Given the description of an element on the screen output the (x, y) to click on. 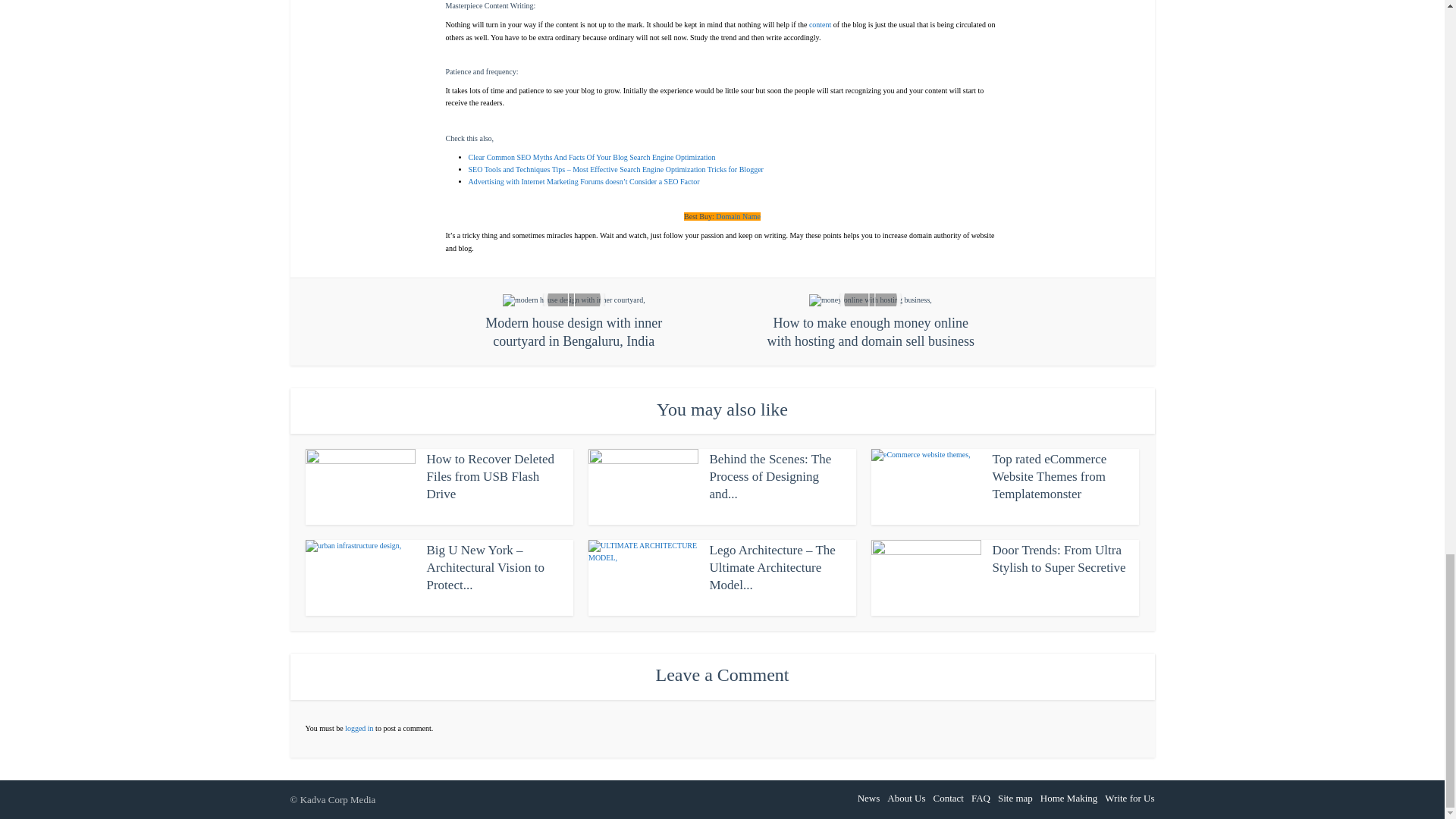
Door Trends: From Ultra Stylish to Super Secretive (1058, 558)
content (820, 24)
How to Recover Deleted Files from USB Flash Drive (490, 476)
Modern house design with inner courtyard in Bengaluru, India (574, 321)
Domain Name (738, 216)
Top rated eCommerce Website Themes from Templatemonster (1048, 476)
